Given the description of an element on the screen output the (x, y) to click on. 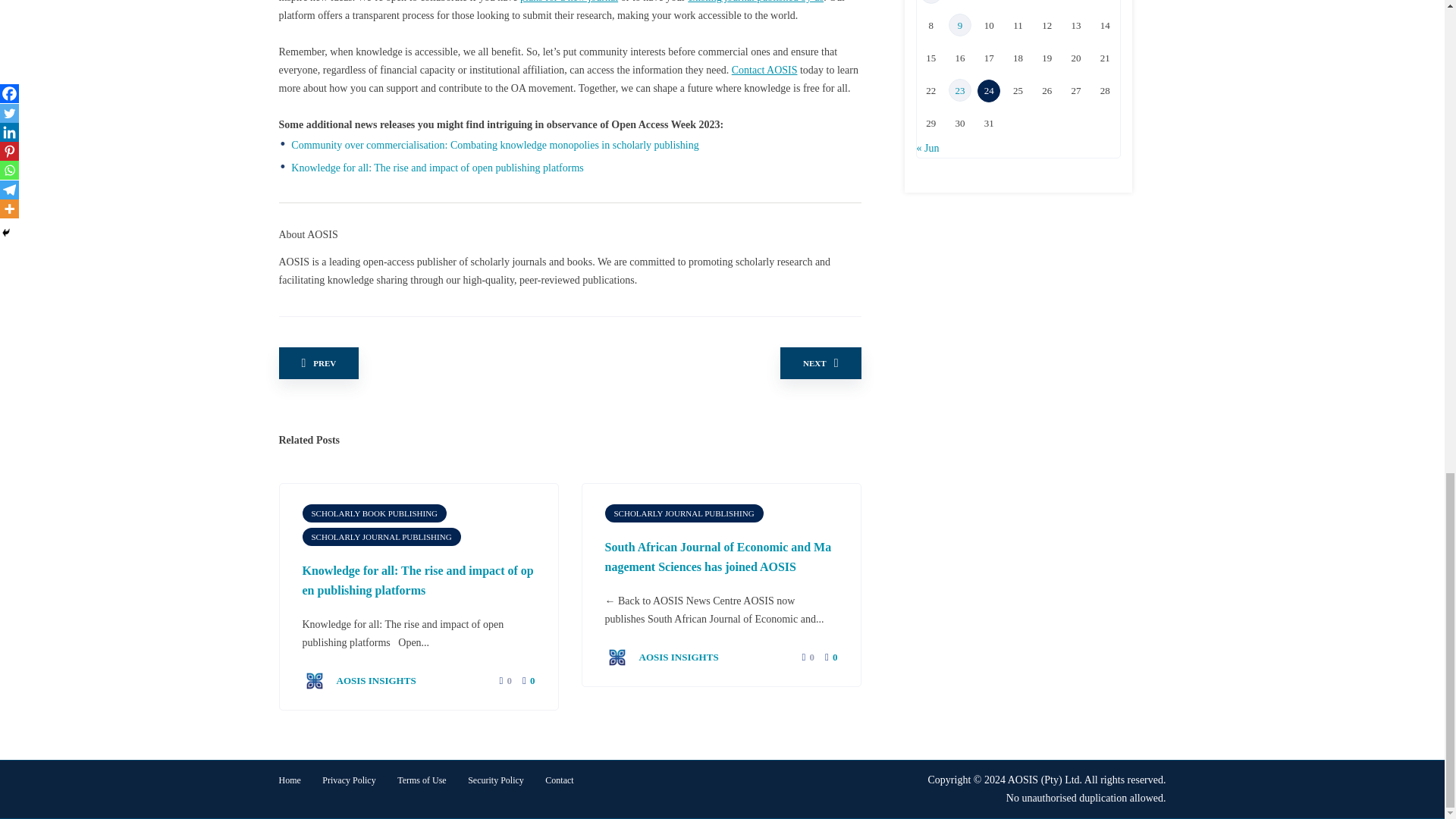
AOSIS Insights (357, 679)
0 comments (528, 680)
  Likes (499, 680)
